Given the description of an element on the screen output the (x, y) to click on. 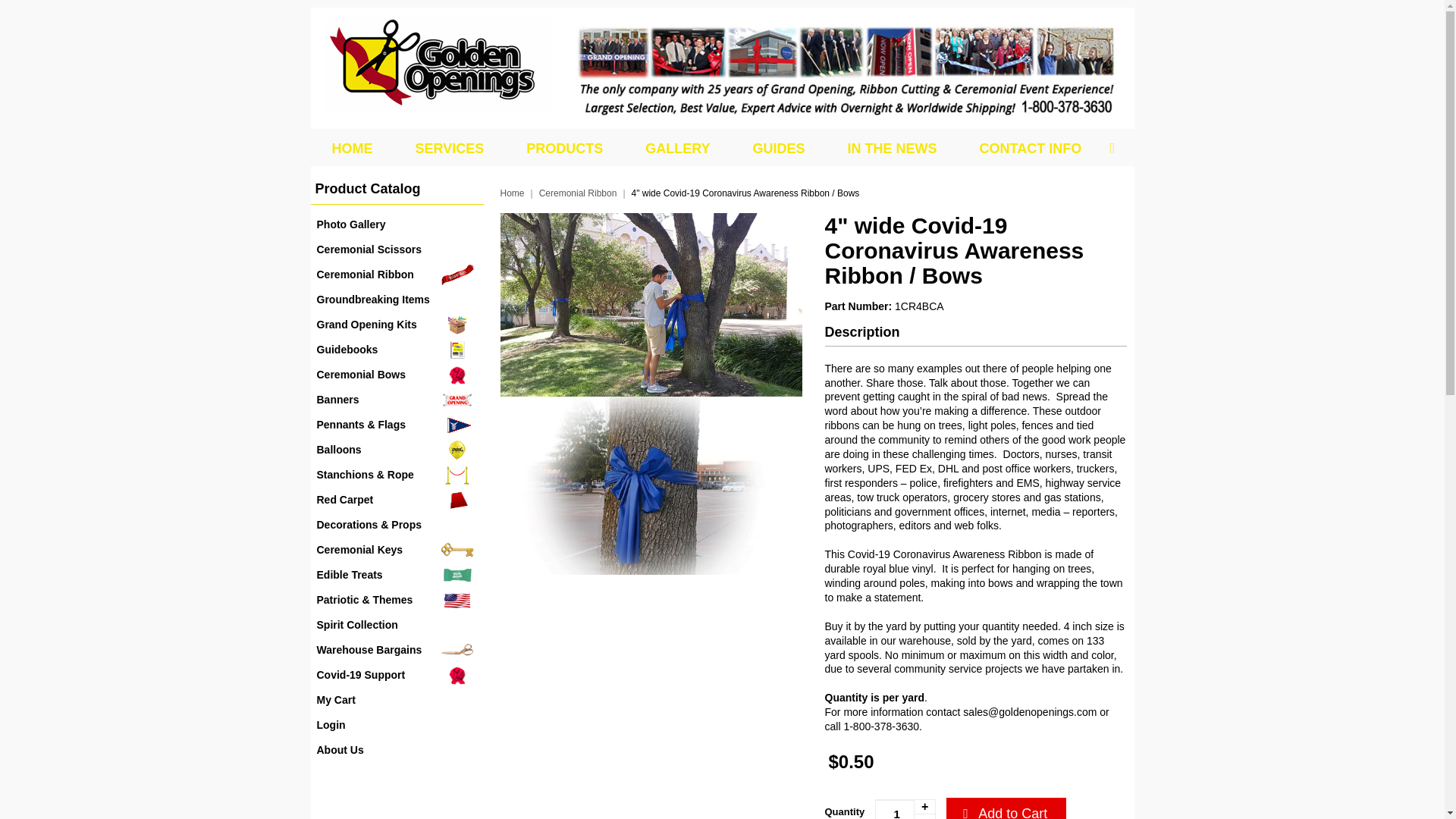
GUIDES (778, 148)
Ceremonial Scissors (397, 249)
PRODUCTS (563, 148)
1 (905, 809)
Photo Gallery (397, 224)
SERVICES (449, 148)
Ceremonial Ribbon (397, 274)
GALLERY (677, 148)
CONTACT INFO (1030, 148)
IN THE NEWS (892, 148)
HOME (351, 148)
